Given the description of an element on the screen output the (x, y) to click on. 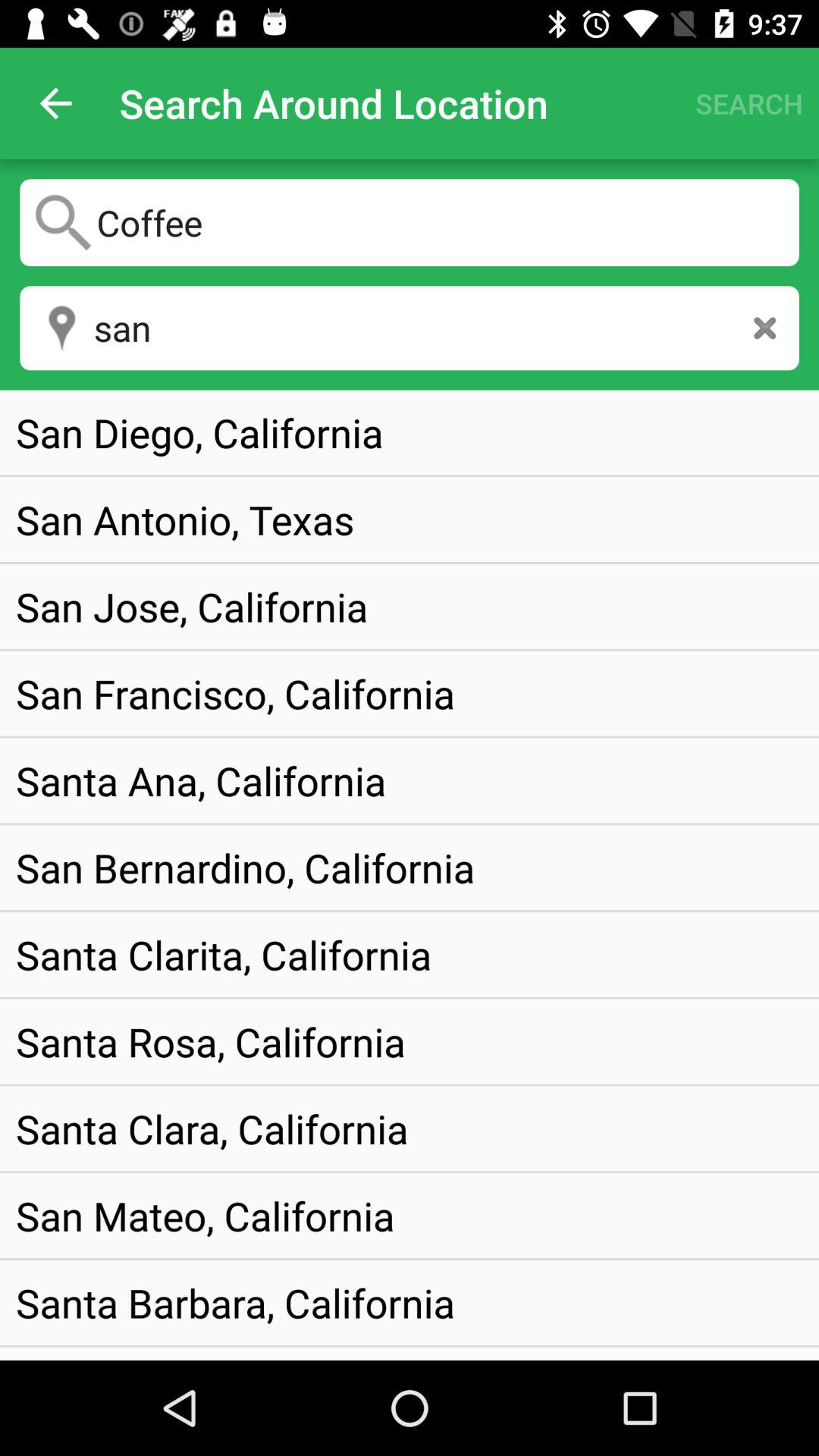
launch the san angelo, texas item (178, 1353)
